Given the description of an element on the screen output the (x, y) to click on. 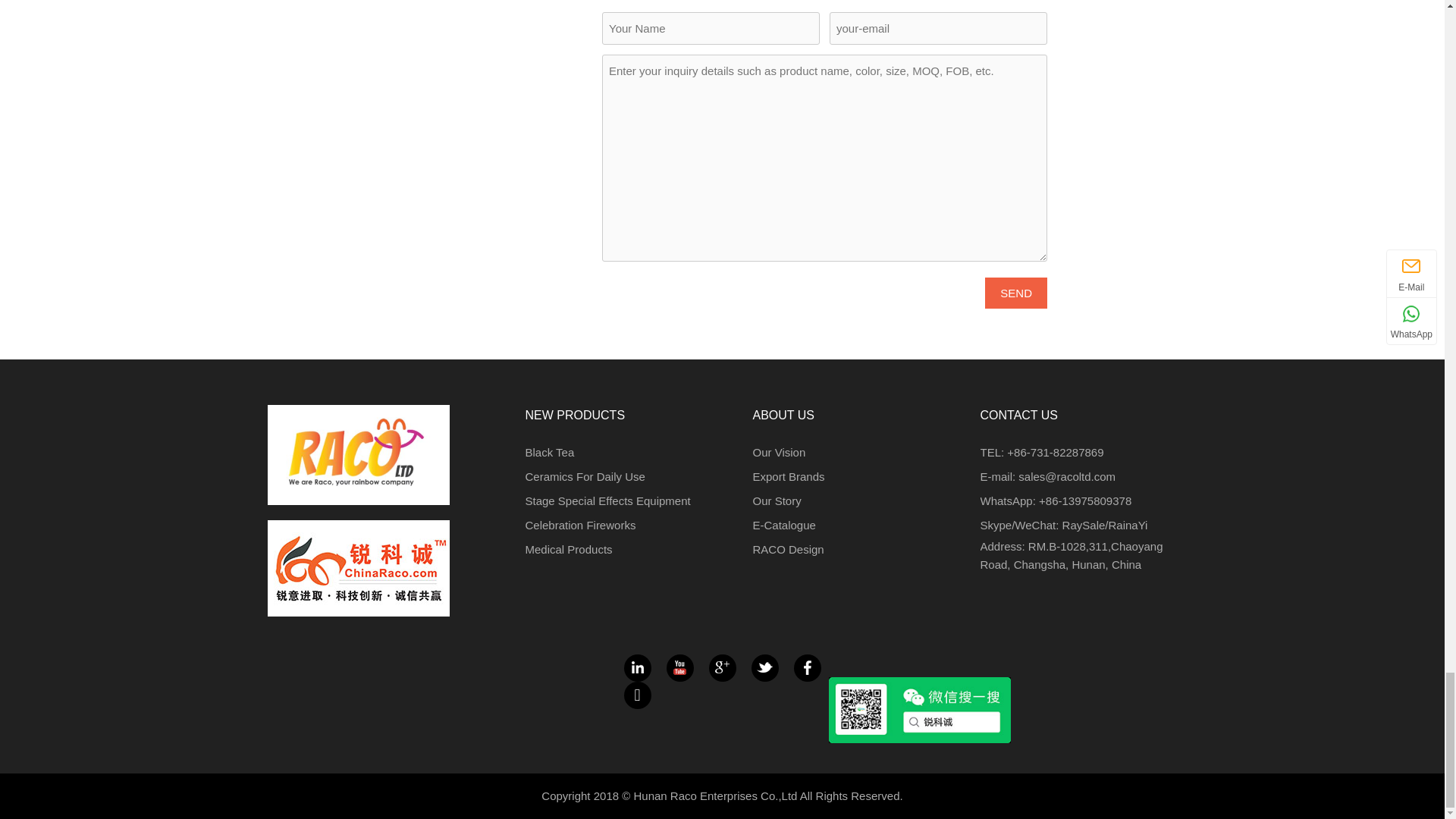
Send (1015, 293)
